Given the description of an element on the screen output the (x, y) to click on. 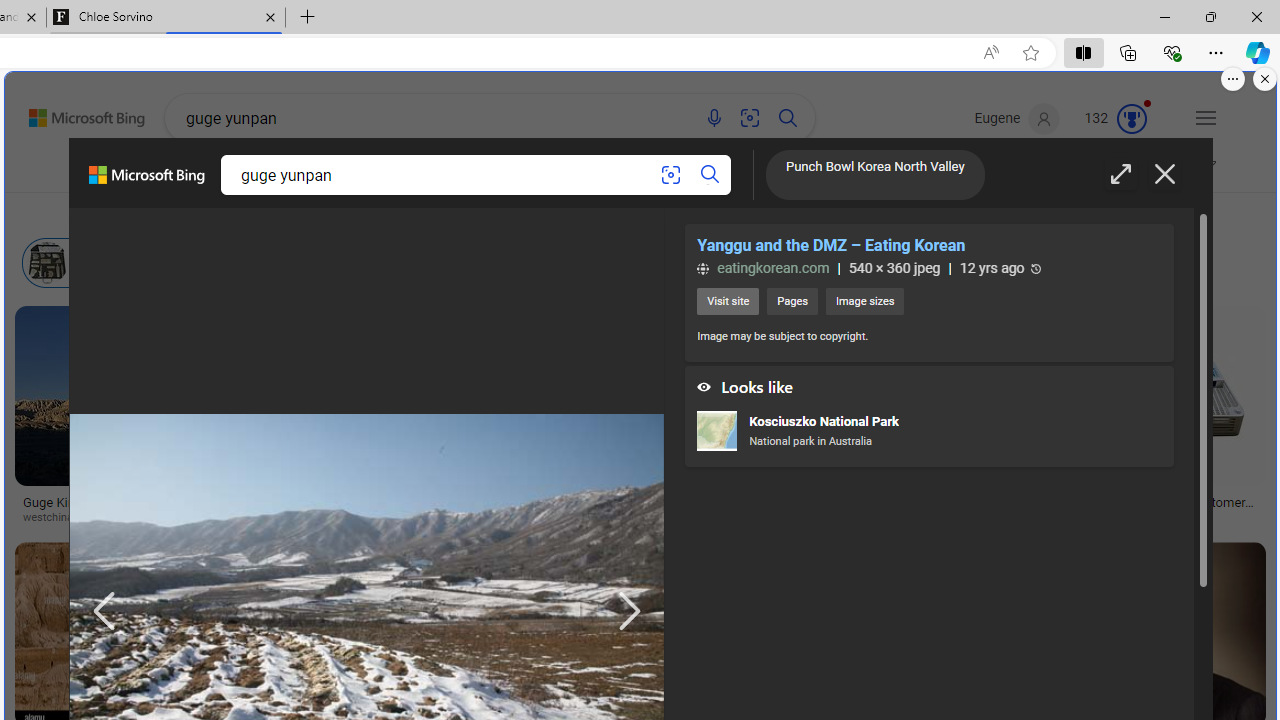
MAPS (734, 170)
Image result for guge yunpan (1182, 396)
Layout (442, 213)
Inspiration (475, 170)
Guge Digital Caliper (1000, 496)
Moderate (1105, 169)
Kosciuszko National ParkNational park in Australia (928, 433)
Search using an image (669, 175)
SafeSearch: (1018, 169)
Type (372, 213)
